Given the description of an element on the screen output the (x, y) to click on. 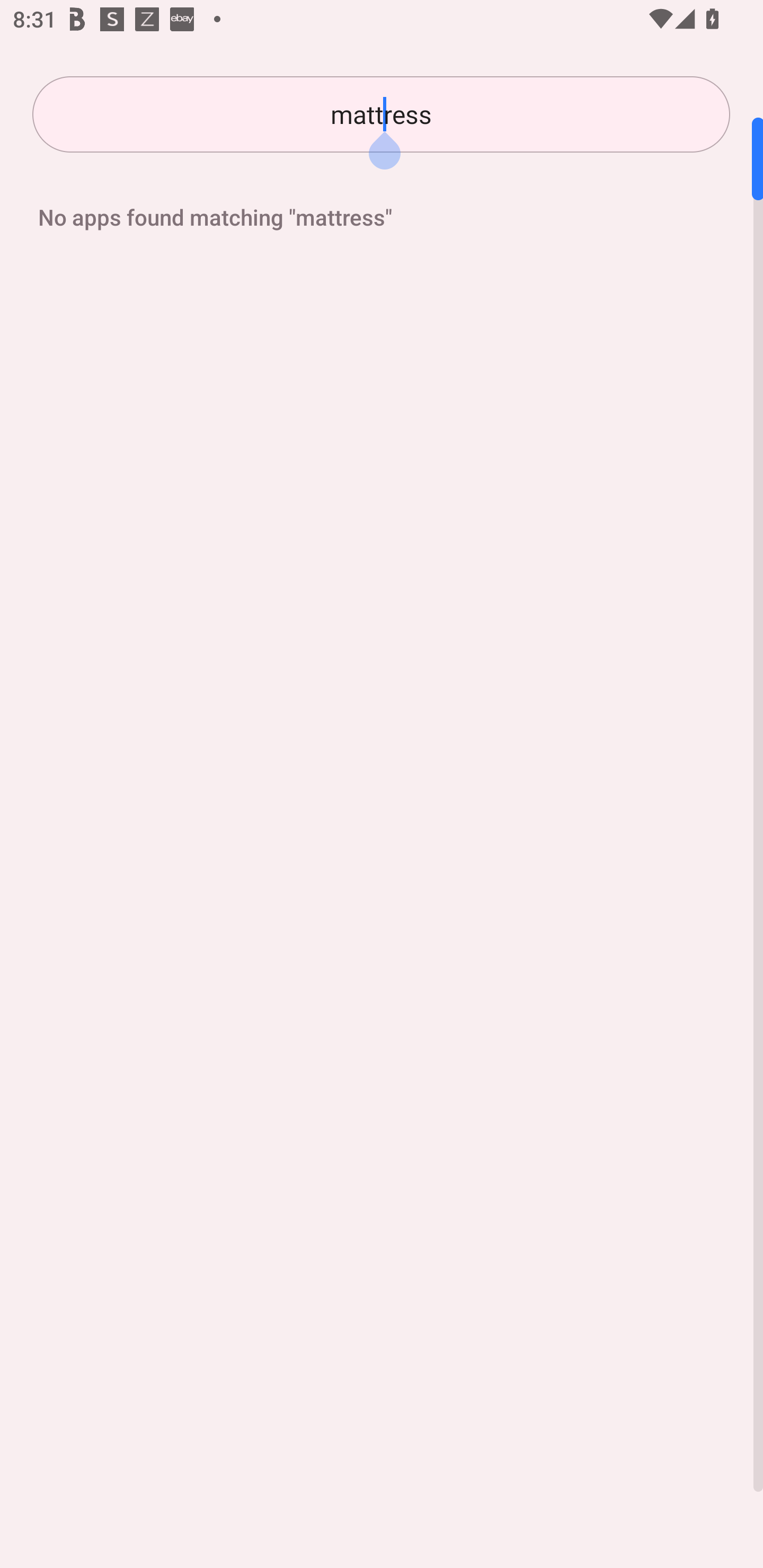
mattress (381, 114)
